Given the description of an element on the screen output the (x, y) to click on. 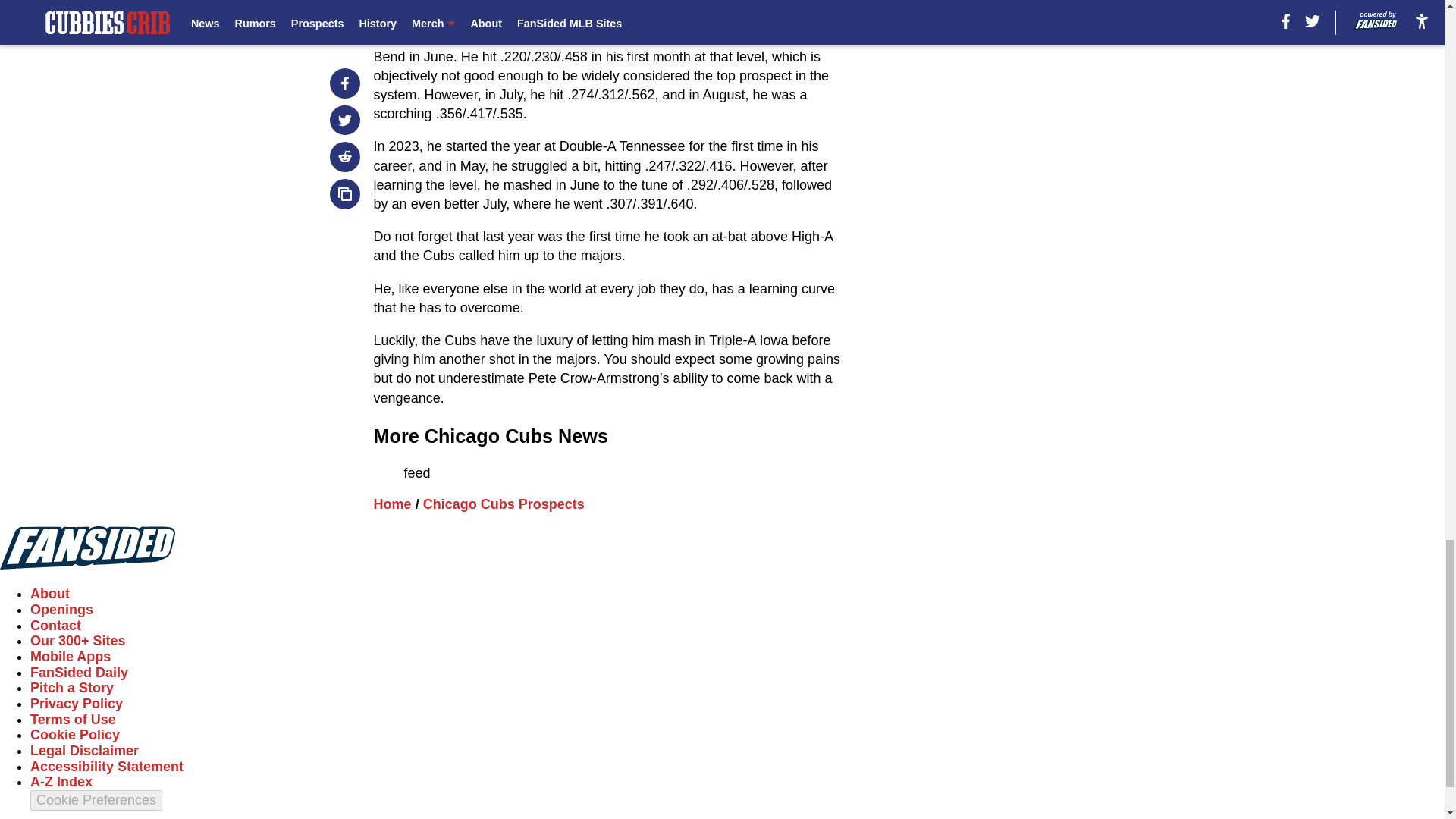
About (49, 593)
Home (393, 503)
Chicago Cubs Prospects (504, 503)
Openings (61, 609)
